Given the description of an element on the screen output the (x, y) to click on. 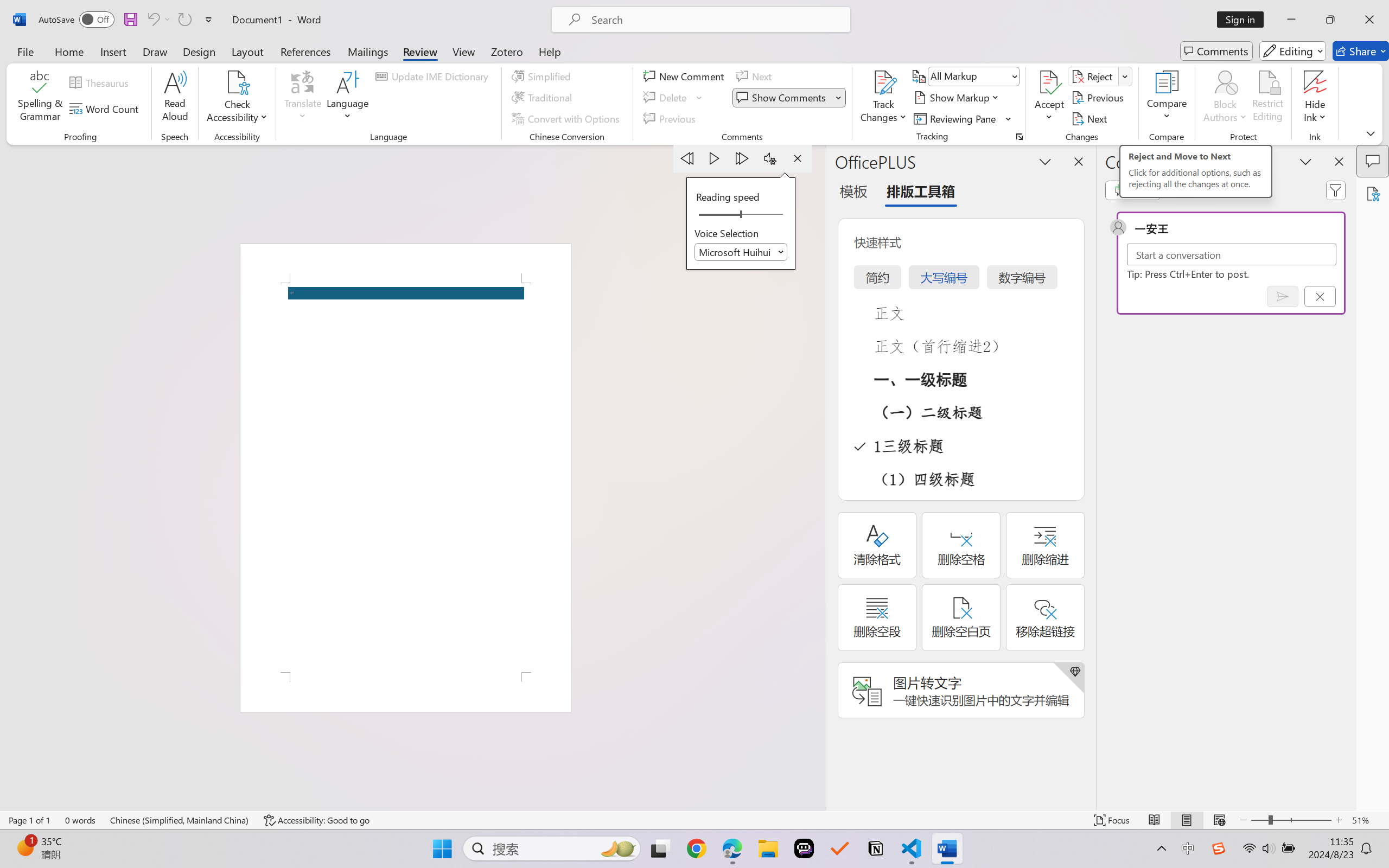
Track Changes (883, 97)
Show Markup (957, 97)
Track Changes (883, 81)
Spelling & Grammar (39, 97)
Word Count (105, 108)
Simplified (542, 75)
